Given the description of an element on the screen output the (x, y) to click on. 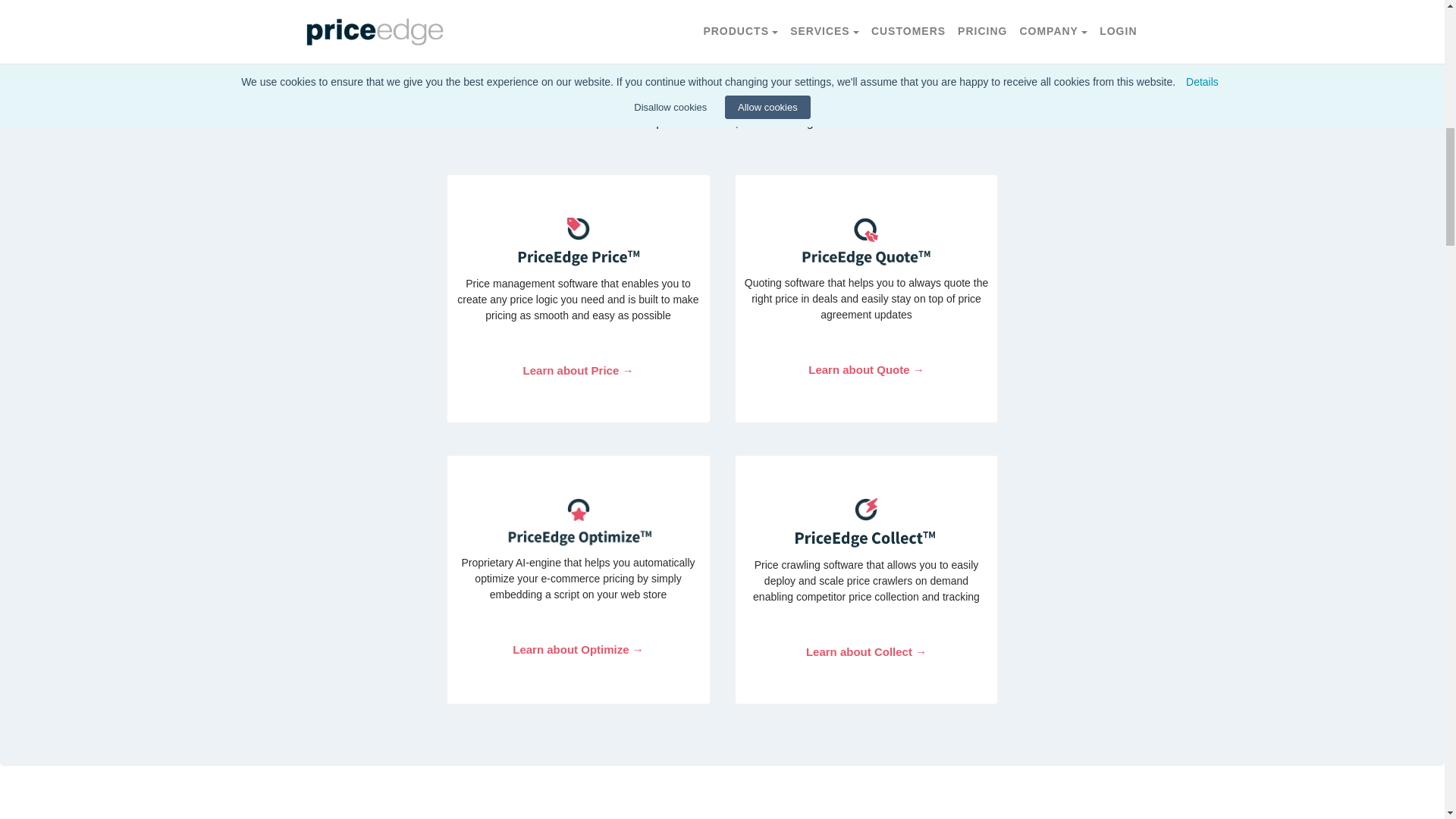
Learn about Optimize (577, 649)
Learn about Quote (866, 369)
Learn about Collect (866, 651)
Learn about Price (577, 369)
